Given the description of an element on the screen output the (x, y) to click on. 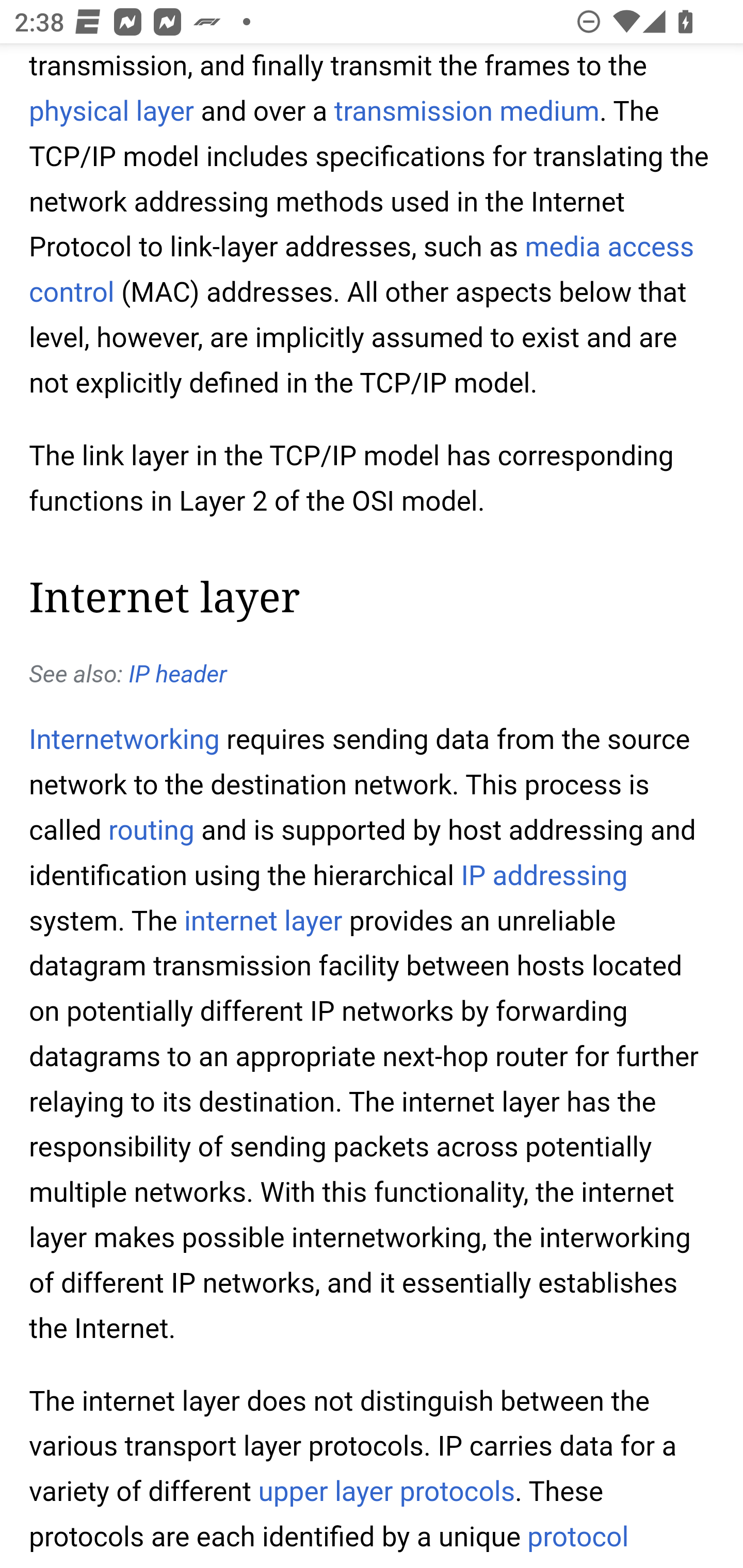
physical layer (111, 112)
transmission medium (465, 112)
media access control (361, 270)
IP header (177, 675)
Internetworking (124, 741)
routing (151, 830)
IP addressing (543, 876)
internet layer (262, 922)
upper layer protocols (386, 1493)
protocol number (329, 1544)
